Given the description of an element on the screen output the (x, y) to click on. 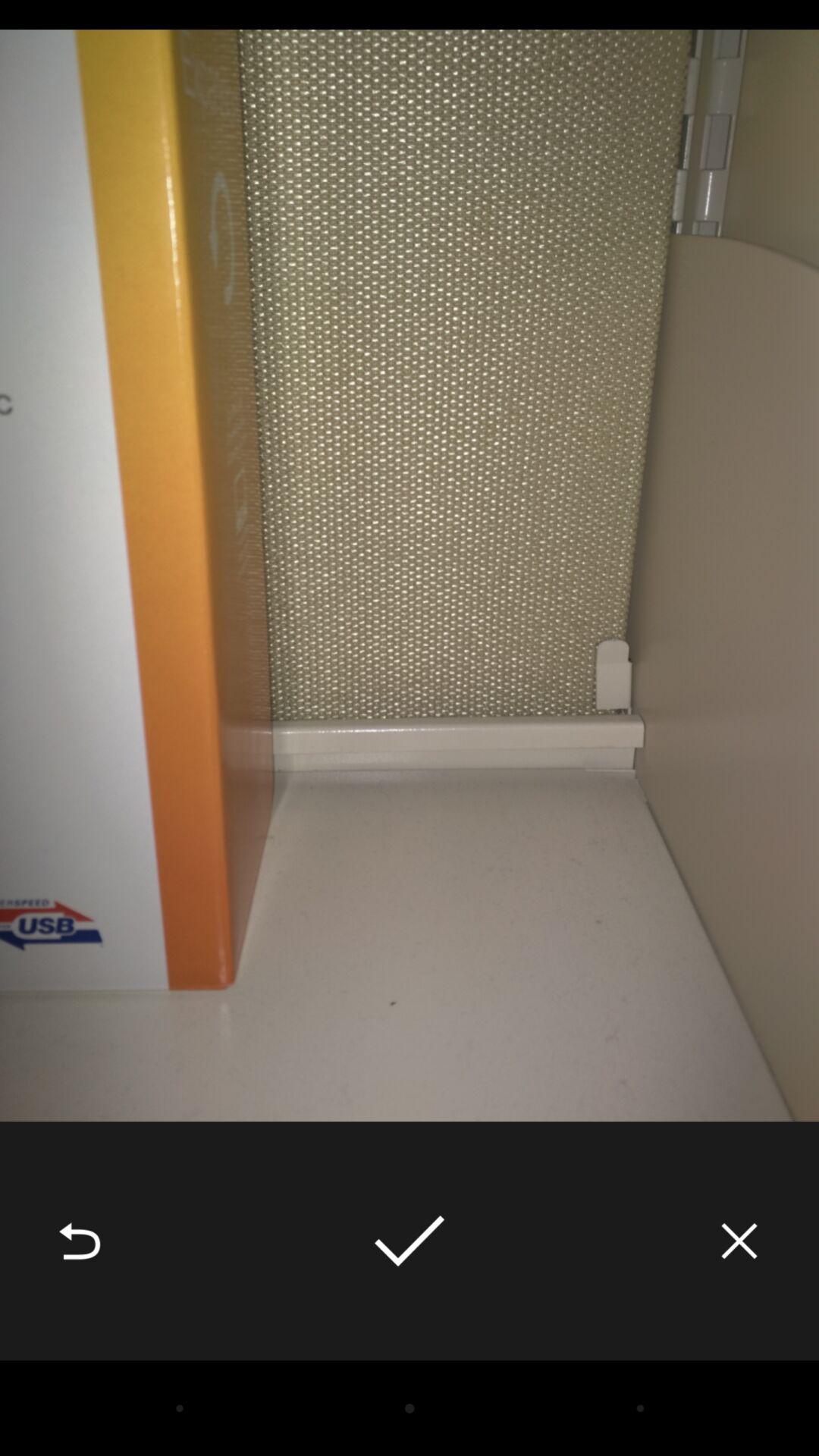
open the icon at the bottom left corner (79, 1240)
